Given the description of an element on the screen output the (x, y) to click on. 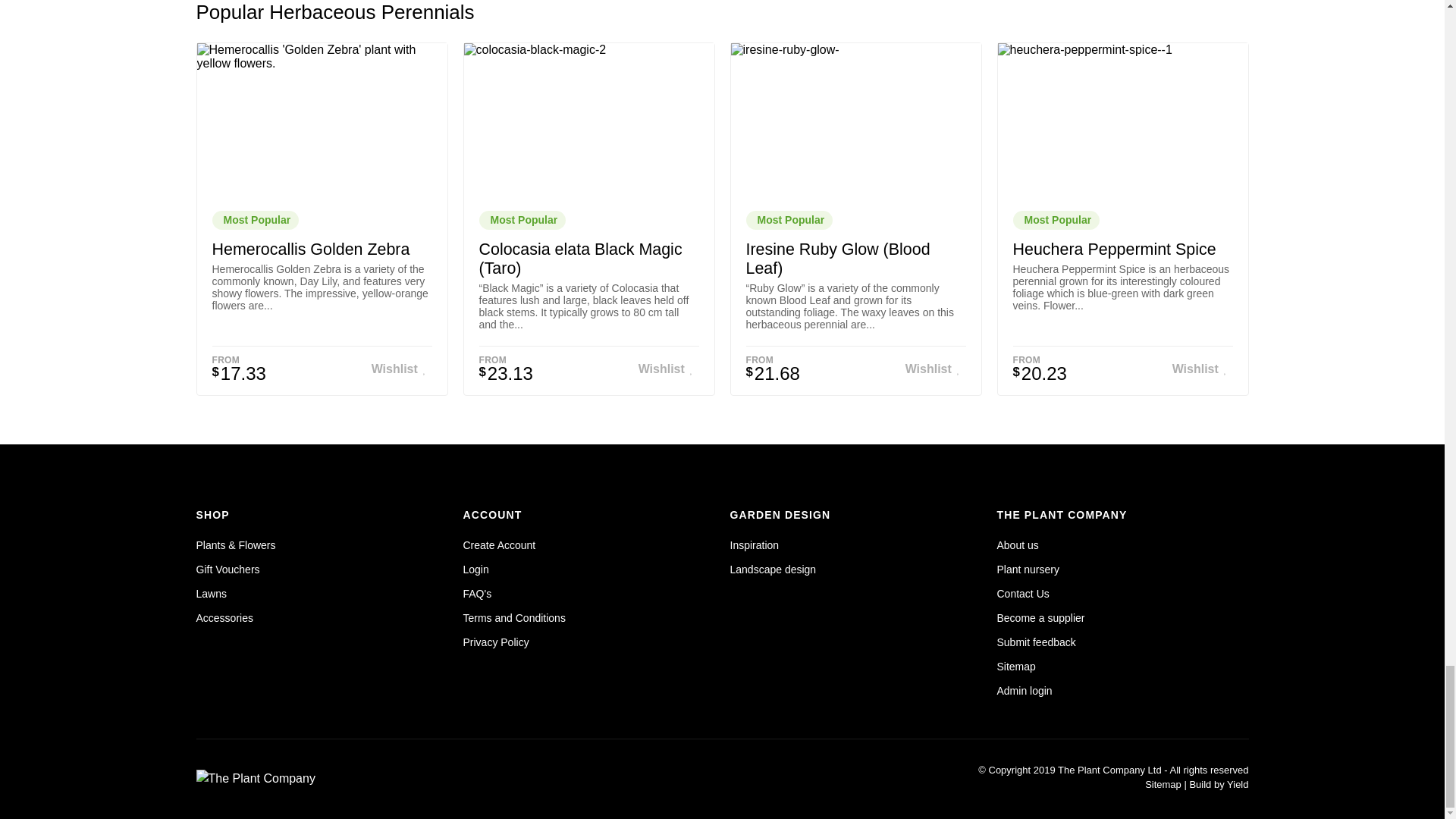
Wishlist (669, 369)
Wishlist (1202, 369)
Lawns (210, 593)
Heuchera Peppermint Spice (1114, 249)
Lawns (210, 593)
Gift Vouchers (227, 569)
Gift Vouchers (227, 569)
Wishlist (401, 369)
Hemerocallis Golden Zebra (311, 249)
Wishlist (935, 369)
